Given the description of an element on the screen output the (x, y) to click on. 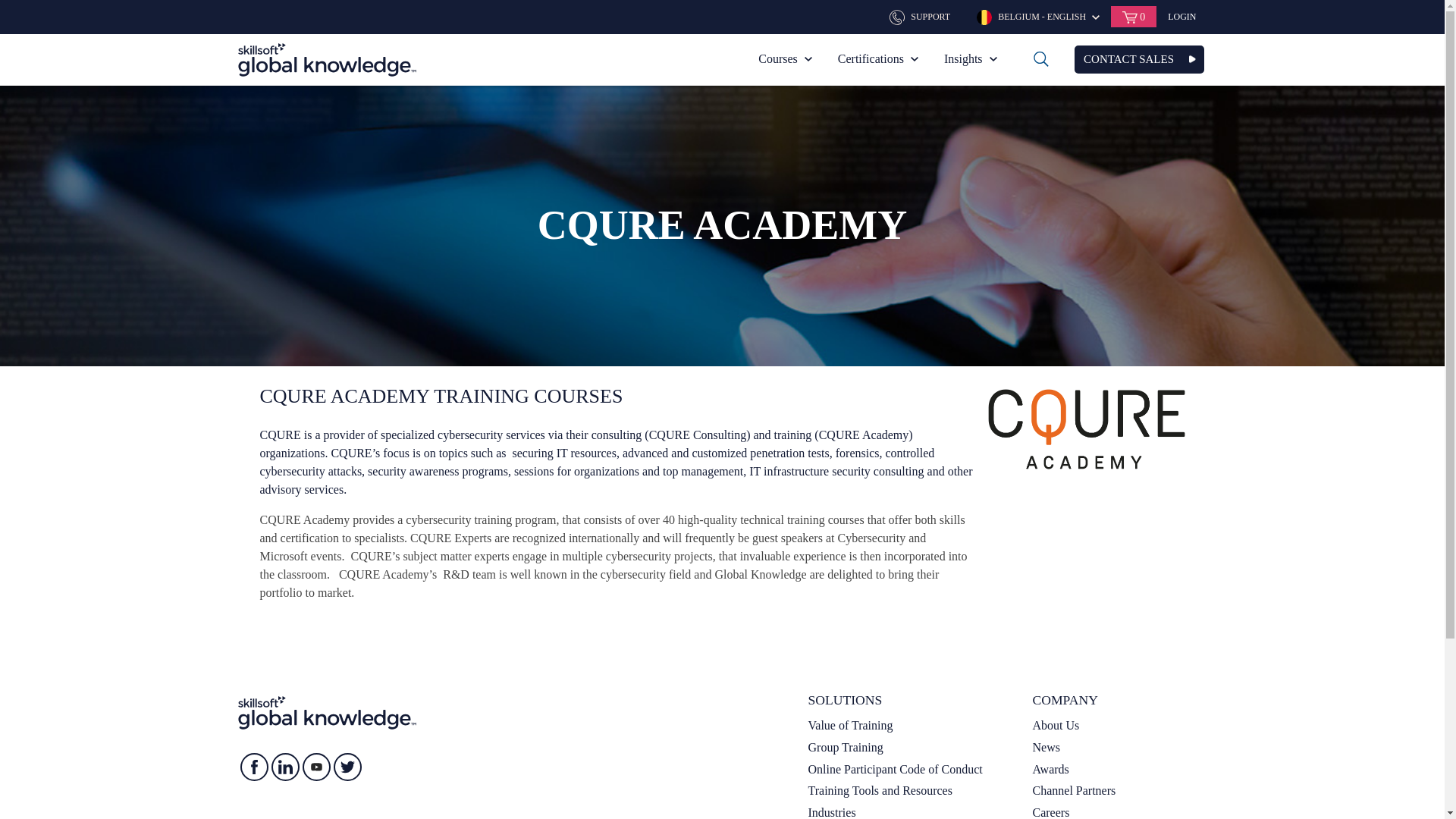
BELGIUM - ENGLISH (1037, 16)
0 (1133, 16)
Courses (785, 58)
SUPPORT (921, 16)
LOGIN (1181, 16)
